Given the description of an element on the screen output the (x, y) to click on. 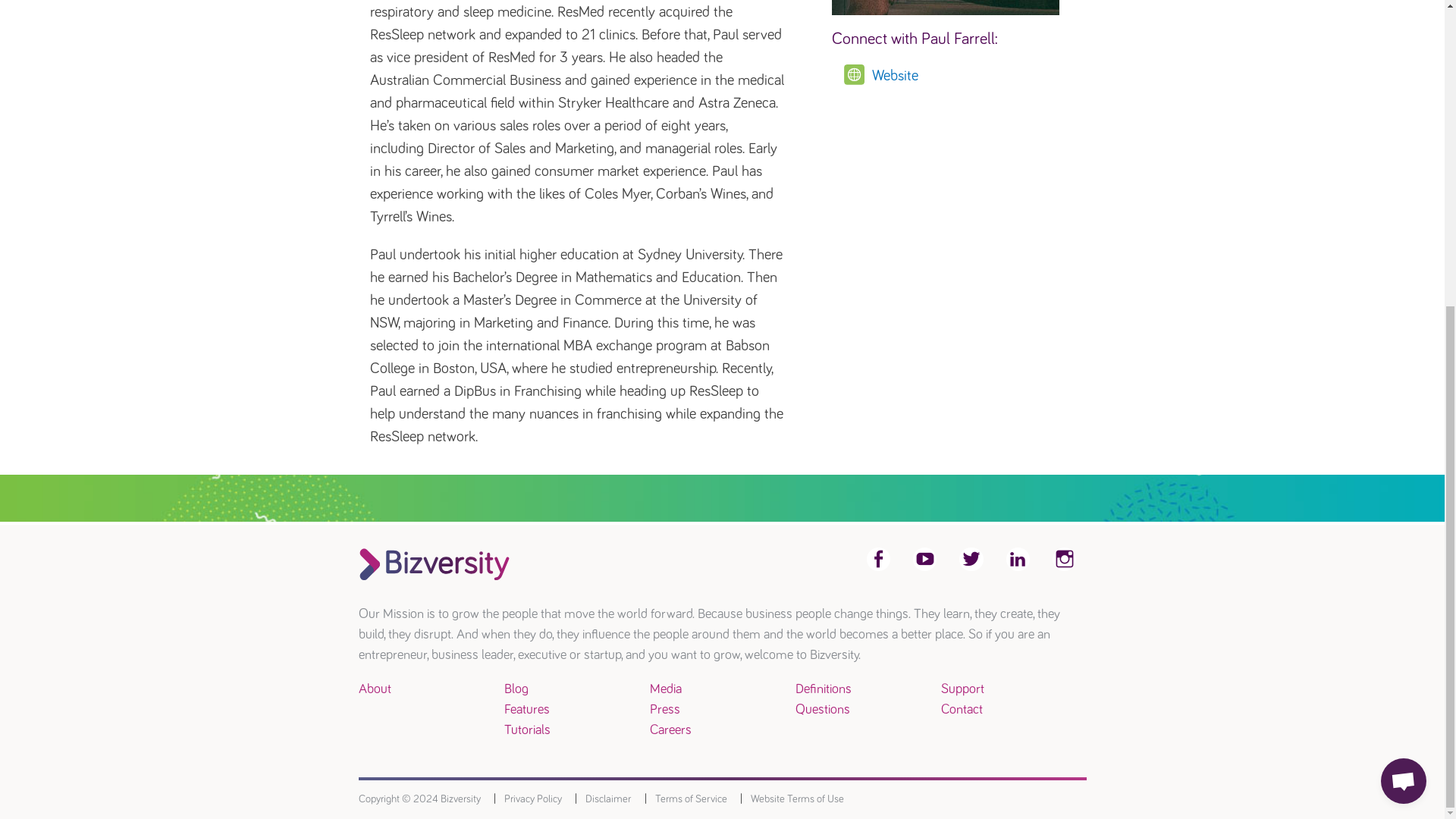
Website (958, 75)
